Given the description of an element on the screen output the (x, y) to click on. 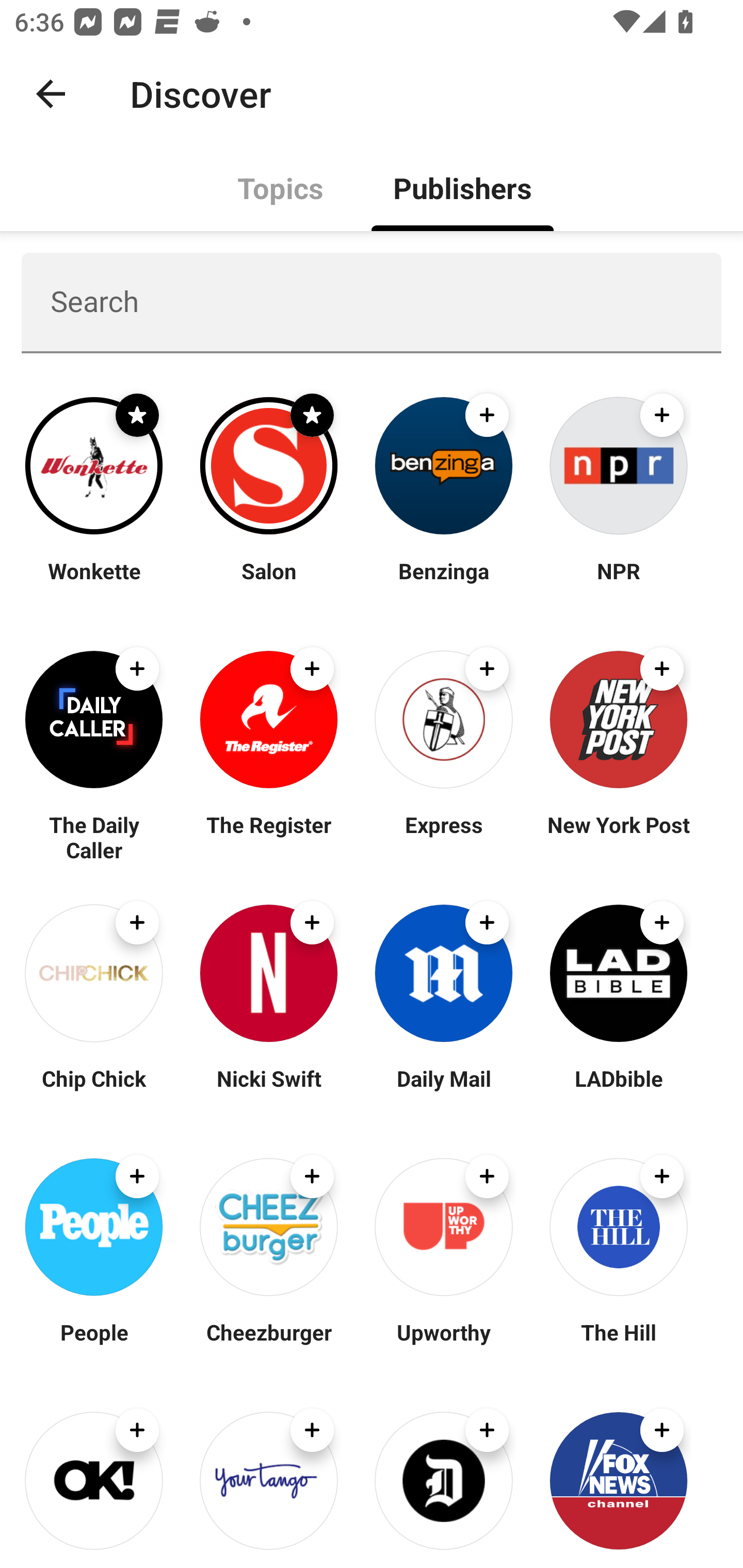
Topics (280, 187)
Search (371, 302)
Wonkette (93, 582)
Salon (268, 582)
Benzinga (443, 582)
NPR (618, 582)
The Daily Caller (93, 836)
The Register (268, 836)
Express (443, 836)
New York Post (618, 836)
Chip Chick (93, 1090)
Nicki Swift (268, 1090)
Daily Mail (443, 1090)
LADbible (618, 1090)
People (93, 1344)
Cheezburger (268, 1344)
Upworthy (443, 1344)
